Given the description of an element on the screen output the (x, y) to click on. 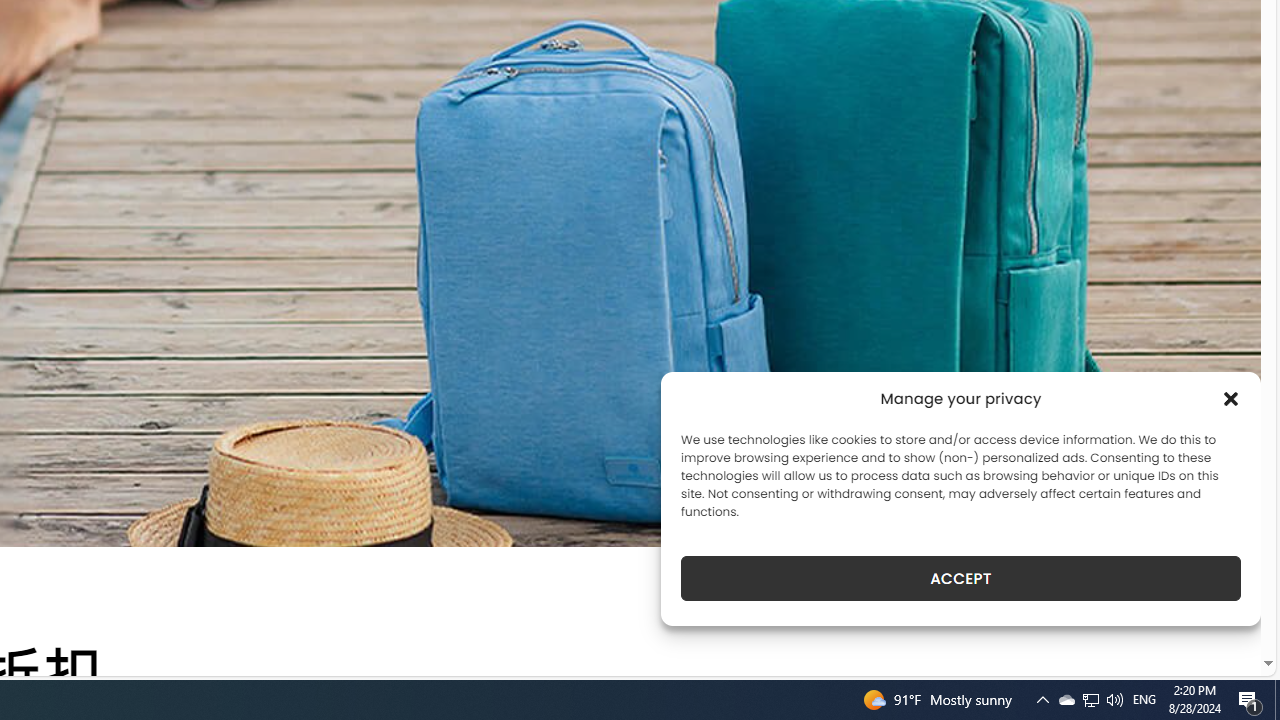
ACCEPT (960, 578)
Class: cmplz-close (1231, 398)
